Given the description of an element on the screen output the (x, y) to click on. 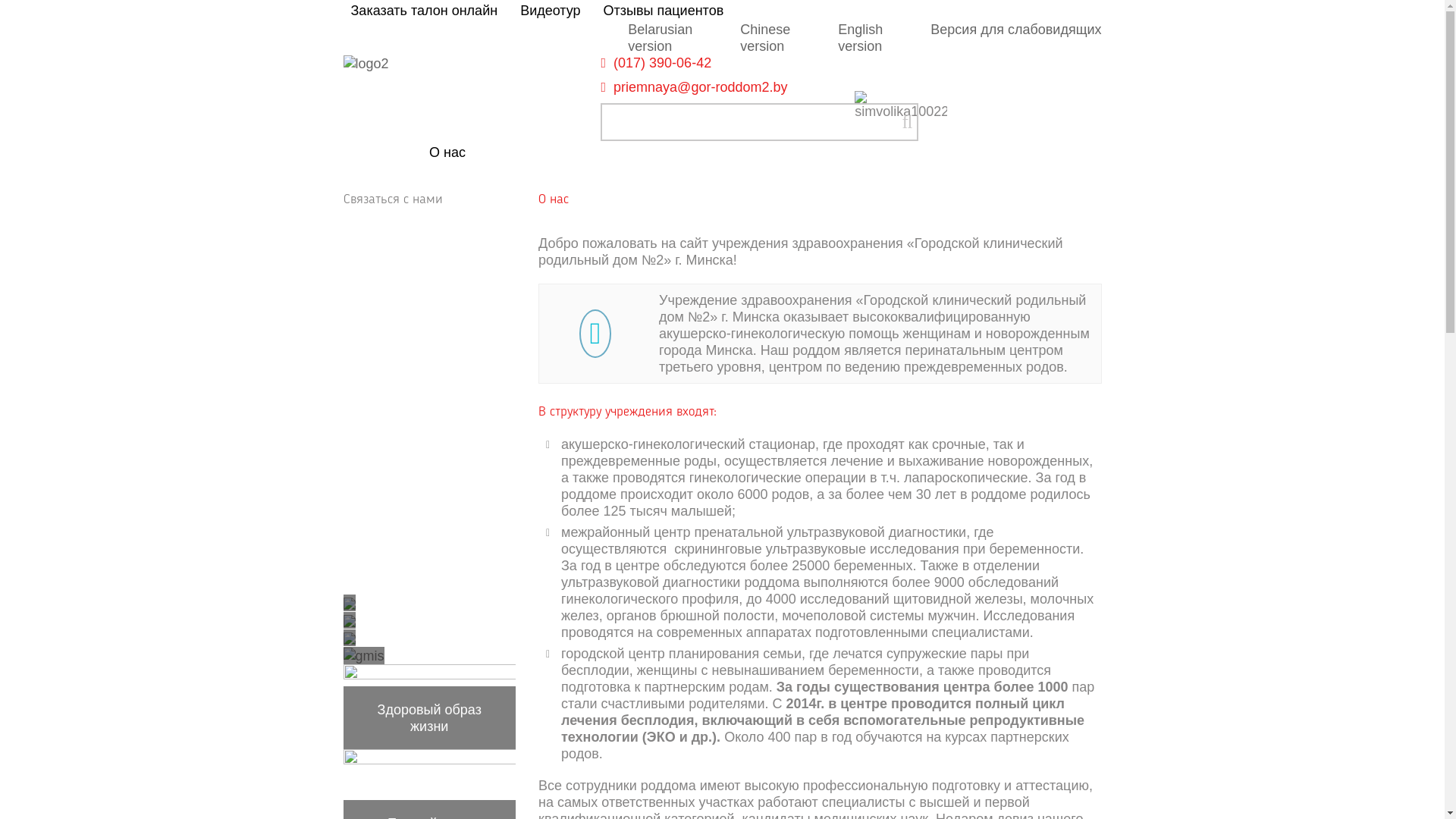
English version Element type: text (859, 37)
Belarusian version Element type: text (659, 37)
priemnaya@gor-roddom2.by Element type: text (700, 86)
Chinese version Element type: text (765, 37)
